Given the description of an element on the screen output the (x, y) to click on. 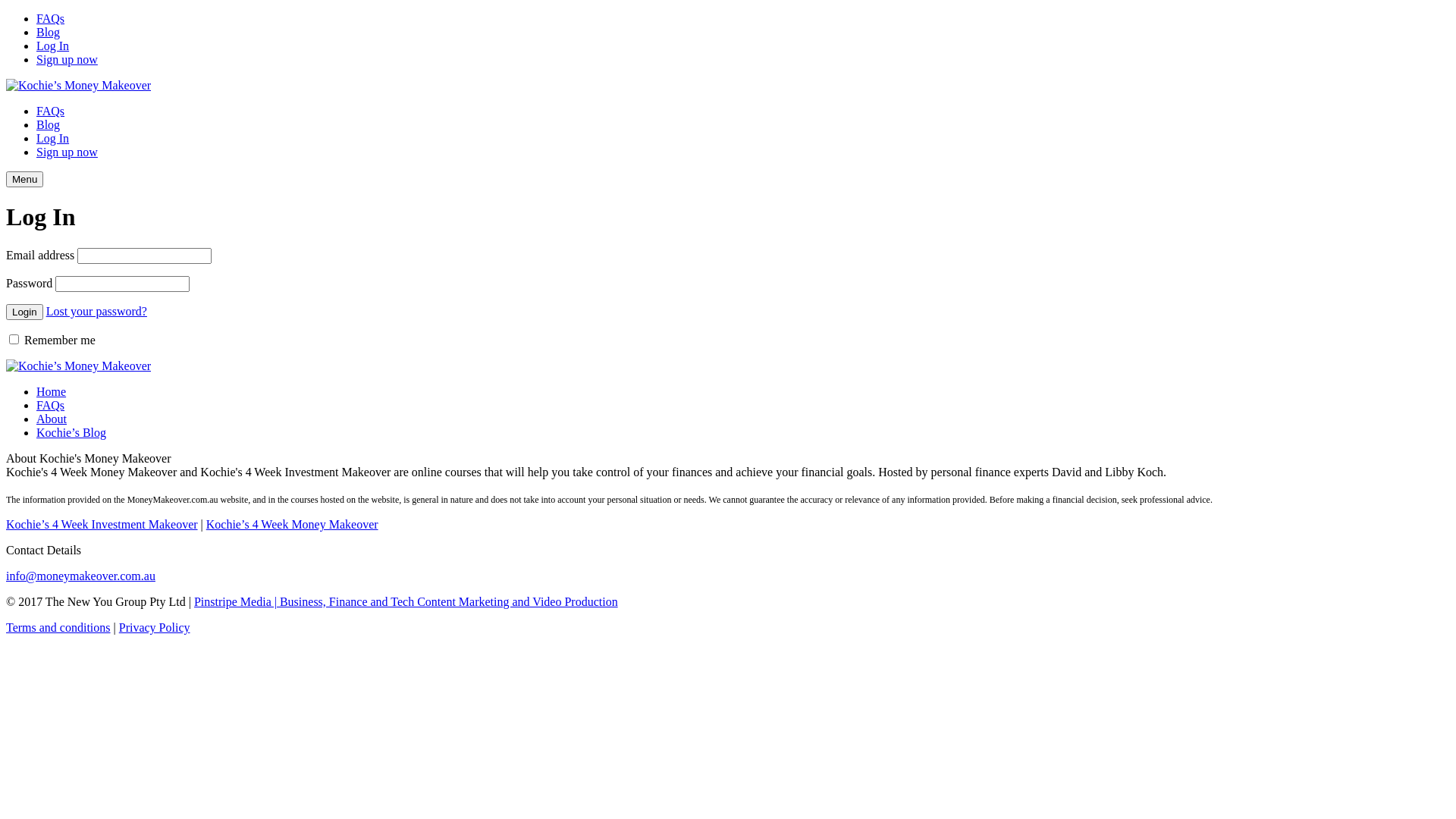
Login Element type: text (24, 312)
Log In Element type: text (52, 137)
Log In Element type: text (52, 45)
Menu Element type: text (24, 179)
About Element type: text (51, 418)
Blog Element type: text (47, 124)
FAQs Element type: text (50, 18)
FAQs Element type: text (50, 404)
Sign up now Element type: text (66, 59)
Privacy Policy Element type: text (154, 627)
Lost your password? Element type: text (96, 310)
Terms and conditions Element type: text (58, 627)
info@moneymakeover.com.au Element type: text (80, 575)
Sign up now Element type: text (66, 151)
Blog Element type: text (47, 31)
Home Element type: text (50, 391)
FAQs Element type: text (50, 110)
